Given the description of an element on the screen output the (x, y) to click on. 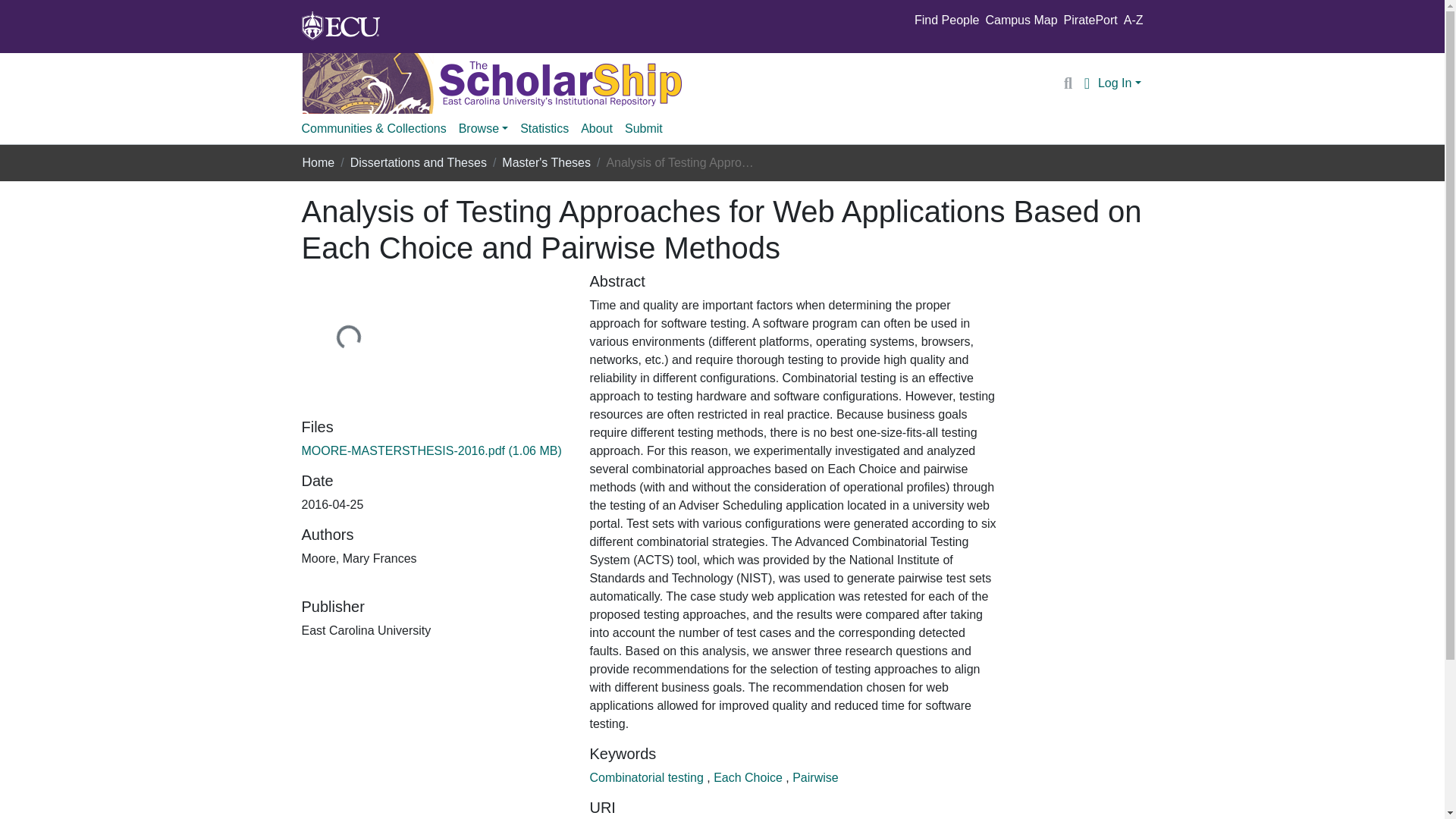
About (596, 128)
Pairwise (815, 777)
Statistics (544, 128)
Search (1067, 83)
Submit (643, 128)
Campus Map (1021, 19)
A-Z (1133, 19)
Log In (1119, 82)
Language switch (1086, 83)
Master's Theses (546, 162)
Browse (482, 128)
Each Choice (749, 777)
Statistics (544, 128)
Home (317, 162)
Dissertations and Theses (418, 162)
